Given the description of an element on the screen output the (x, y) to click on. 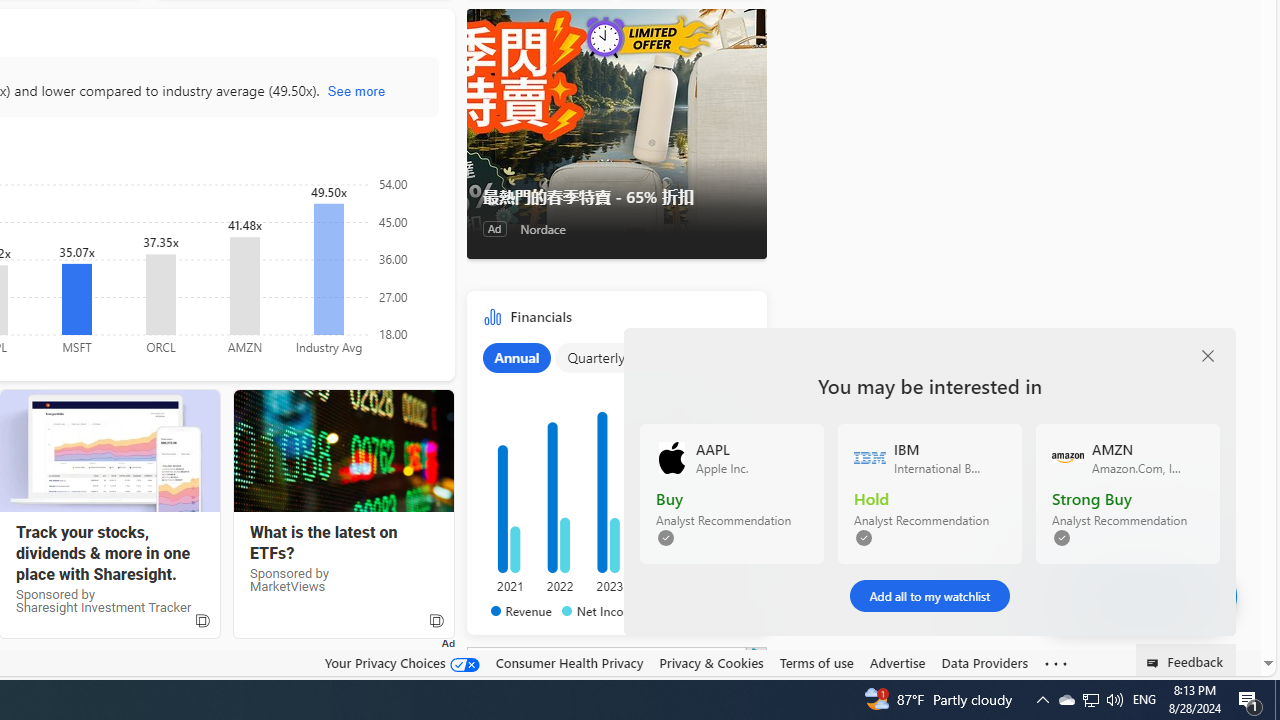
Data Providers (983, 663)
